Given the description of an element on the screen output the (x, y) to click on. 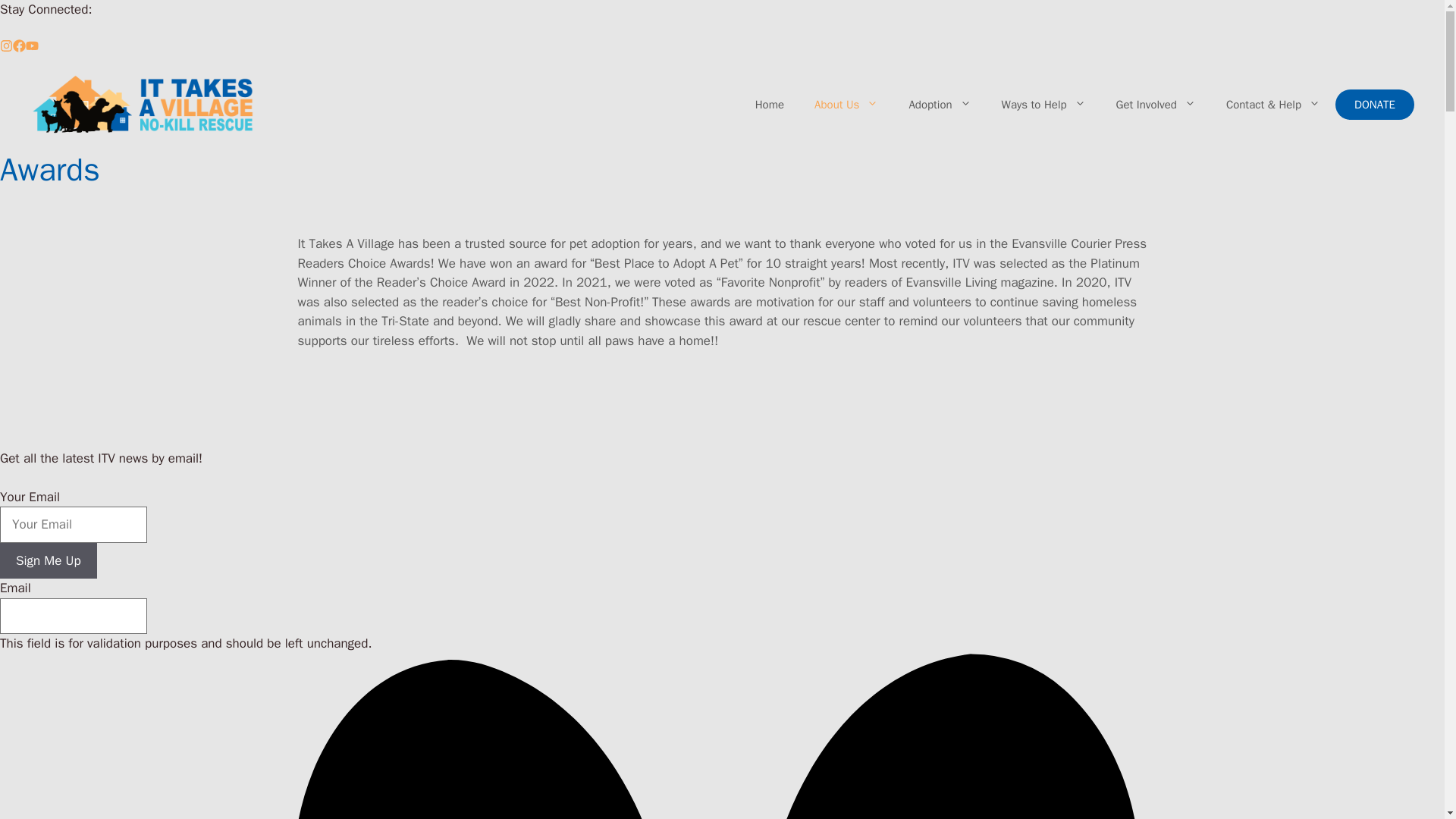
Home (769, 104)
DONATE (1374, 104)
Sign Me Up (48, 560)
Ways to Help (1043, 104)
Adoption (939, 104)
Get Involved (1155, 104)
About Us (846, 104)
Sign Me Up (48, 560)
